Given the description of an element on the screen output the (x, y) to click on. 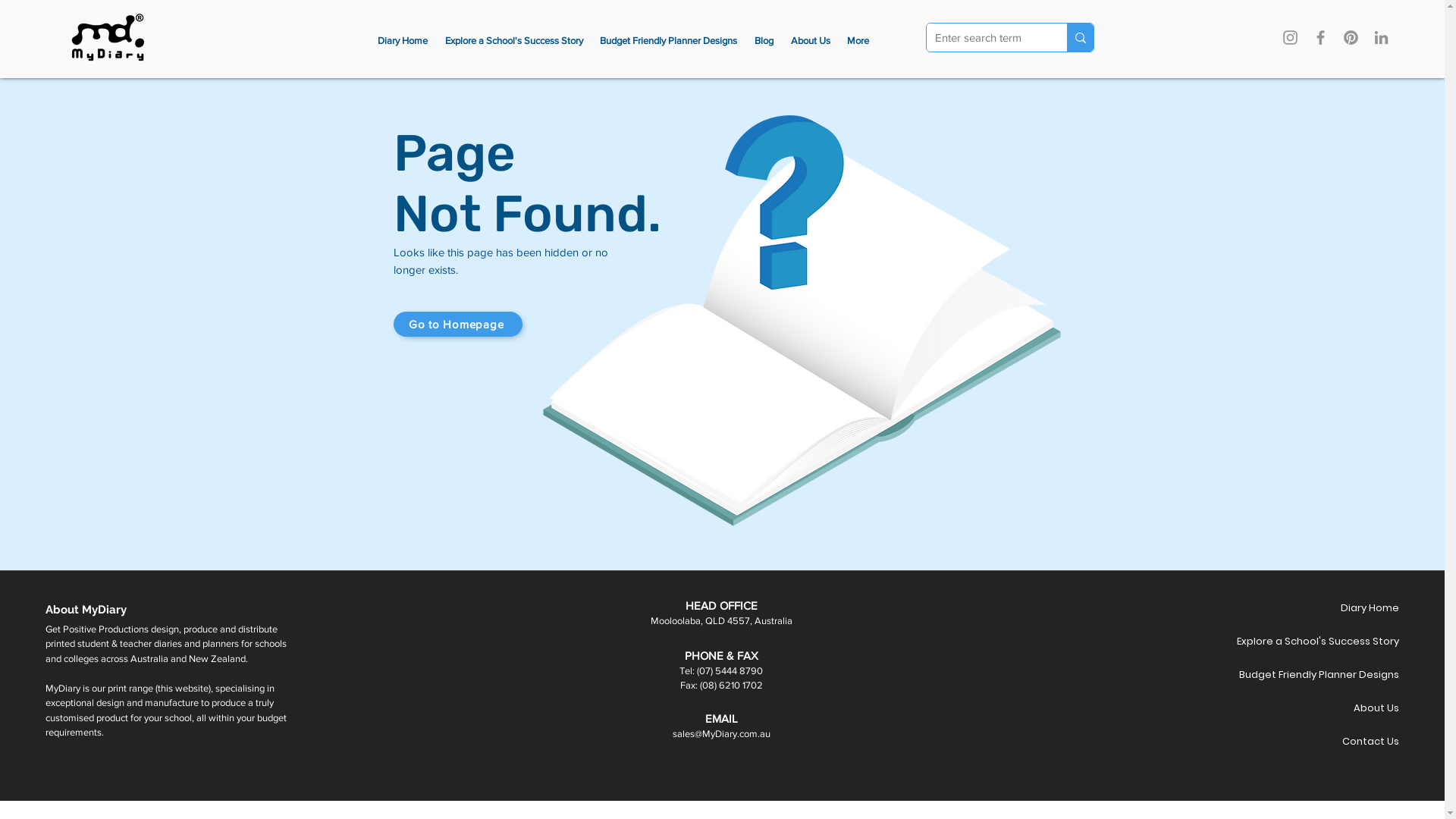
Contact Us Element type: text (1345, 741)
Diary Home Element type: text (402, 41)
Explore a School's Success Story Element type: text (513, 41)
Budget Friendly Planner Designs Element type: text (668, 41)
Blog Element type: text (764, 41)
Budget Friendly Planner Designs Element type: text (1345, 674)
About Us Element type: text (1345, 707)
Diary Home Element type: text (1345, 607)
About Us Element type: text (809, 41)
Go to Homepage Element type: text (456, 323)
Explore a School's Success Story Element type: text (1345, 641)
sales@MyDiary.com.au Element type: text (721, 733)
